Given the description of an element on the screen output the (x, y) to click on. 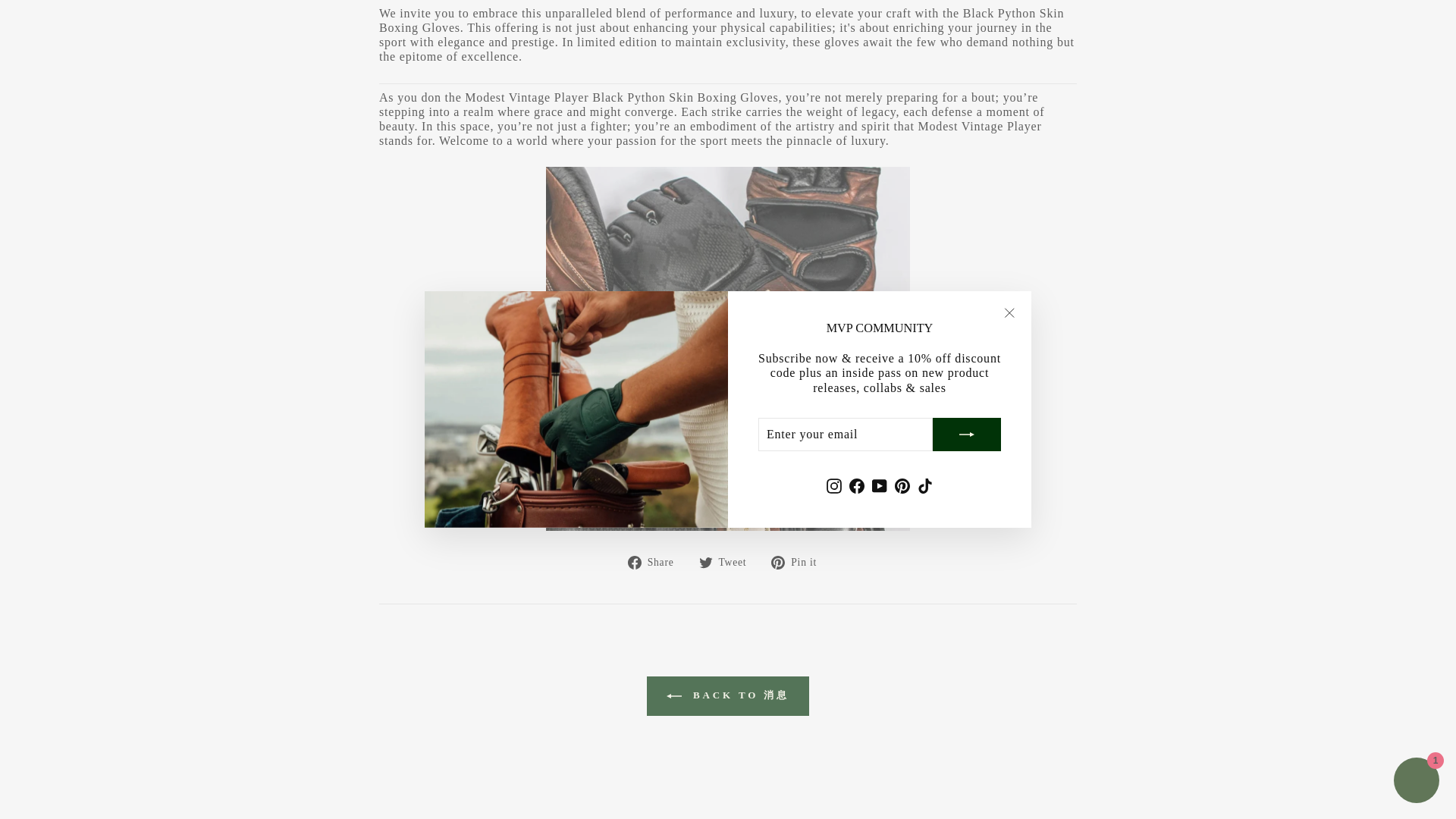
Tweet on Twitter (728, 560)
